Given the description of an element on the screen output the (x, y) to click on. 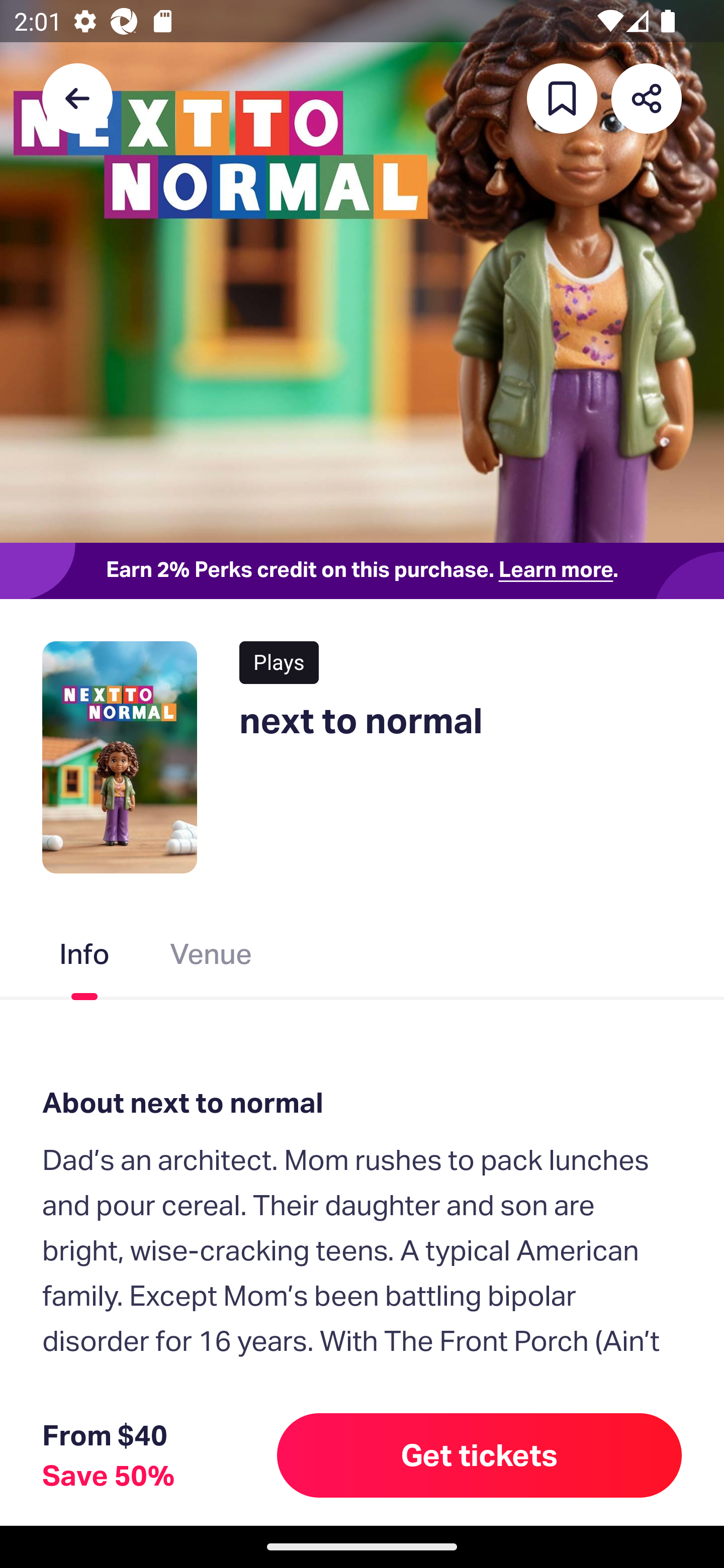
Earn 2% Perks credit on this purchase. Learn more. (362, 570)
Venue (210, 957)
About next to normal (361, 1103)
Get tickets (479, 1454)
